Given the description of an element on the screen output the (x, y) to click on. 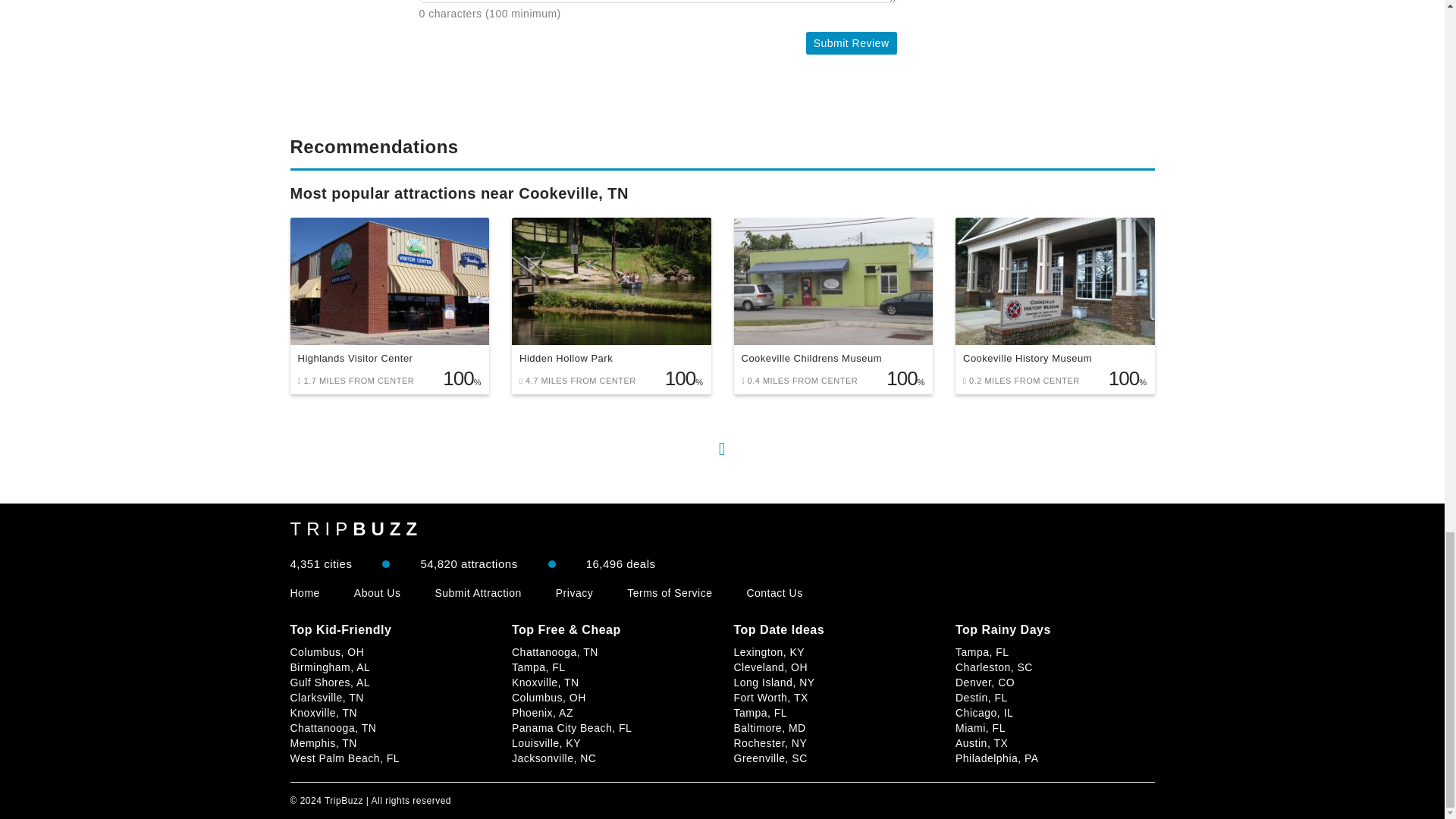
TRIPBUZZ (355, 529)
Privacy (574, 592)
Privacy (574, 592)
About Us (377, 592)
Submit Review (851, 42)
Home (303, 592)
About (377, 592)
Terms of Service (669, 592)
Submit Attraction (477, 592)
